Given the description of an element on the screen output the (x, y) to click on. 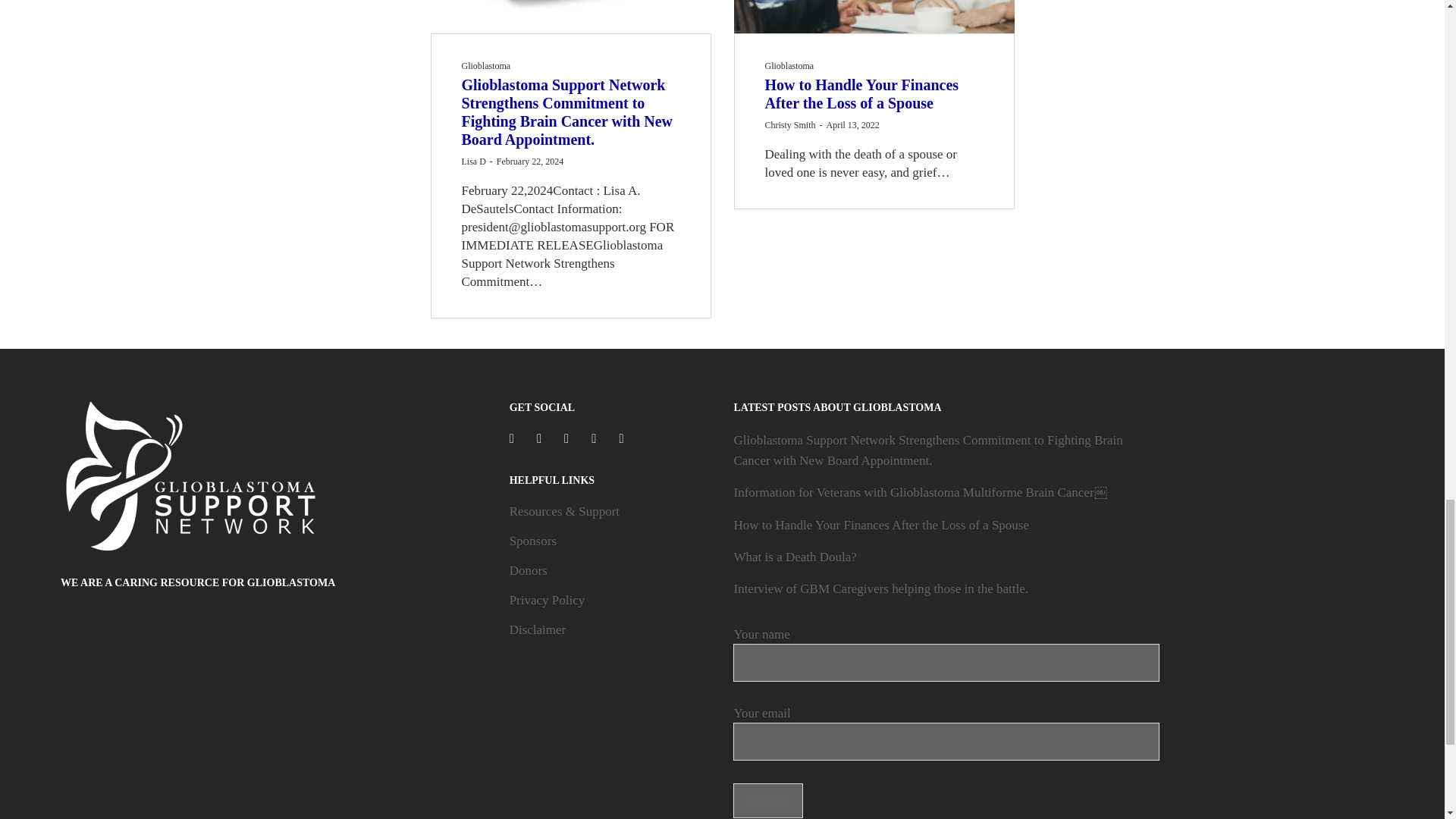
Submit (767, 800)
